Given the description of an element on the screen output the (x, y) to click on. 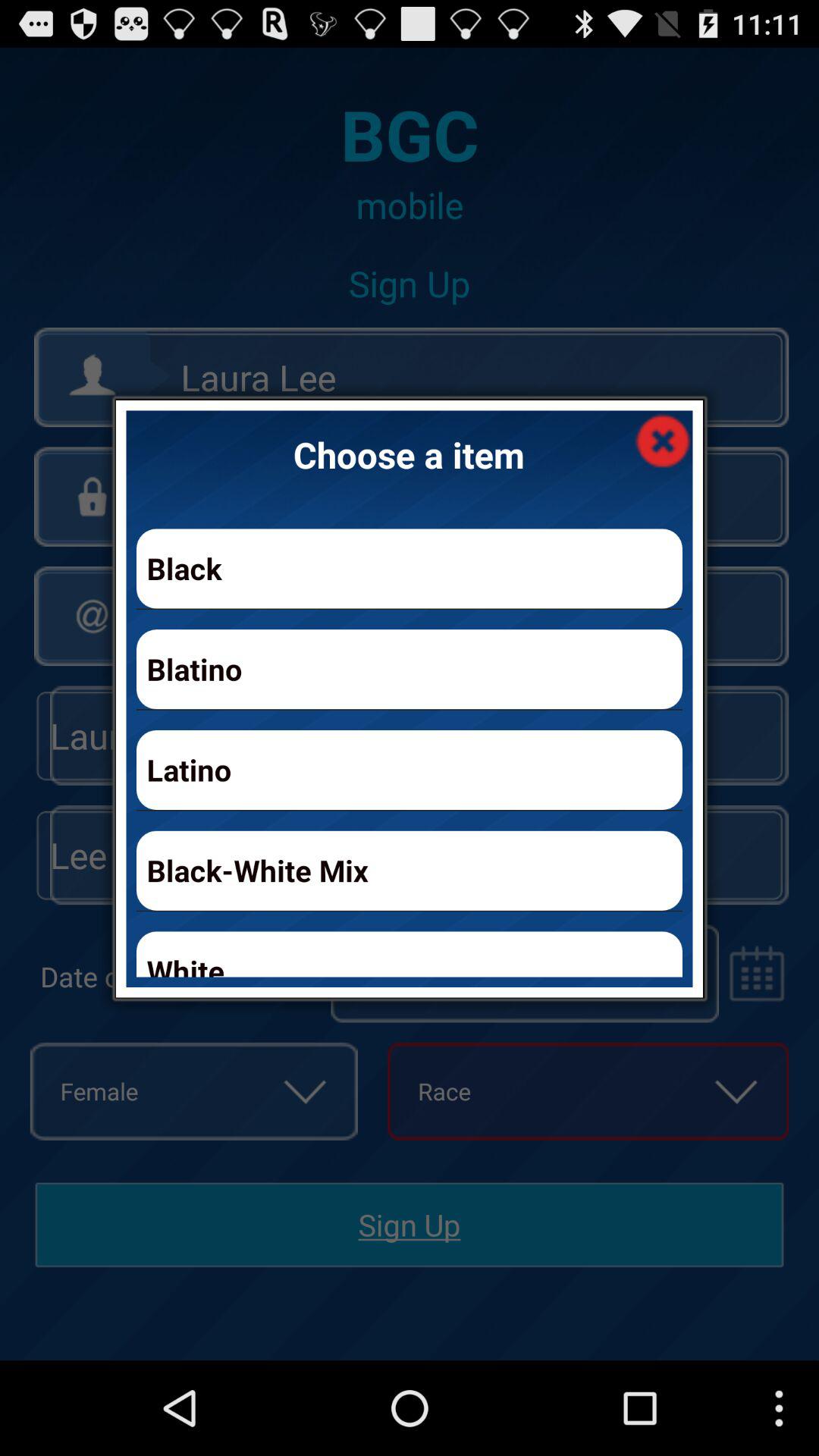
tap icon above black (662, 440)
